Given the description of an element on the screen output the (x, y) to click on. 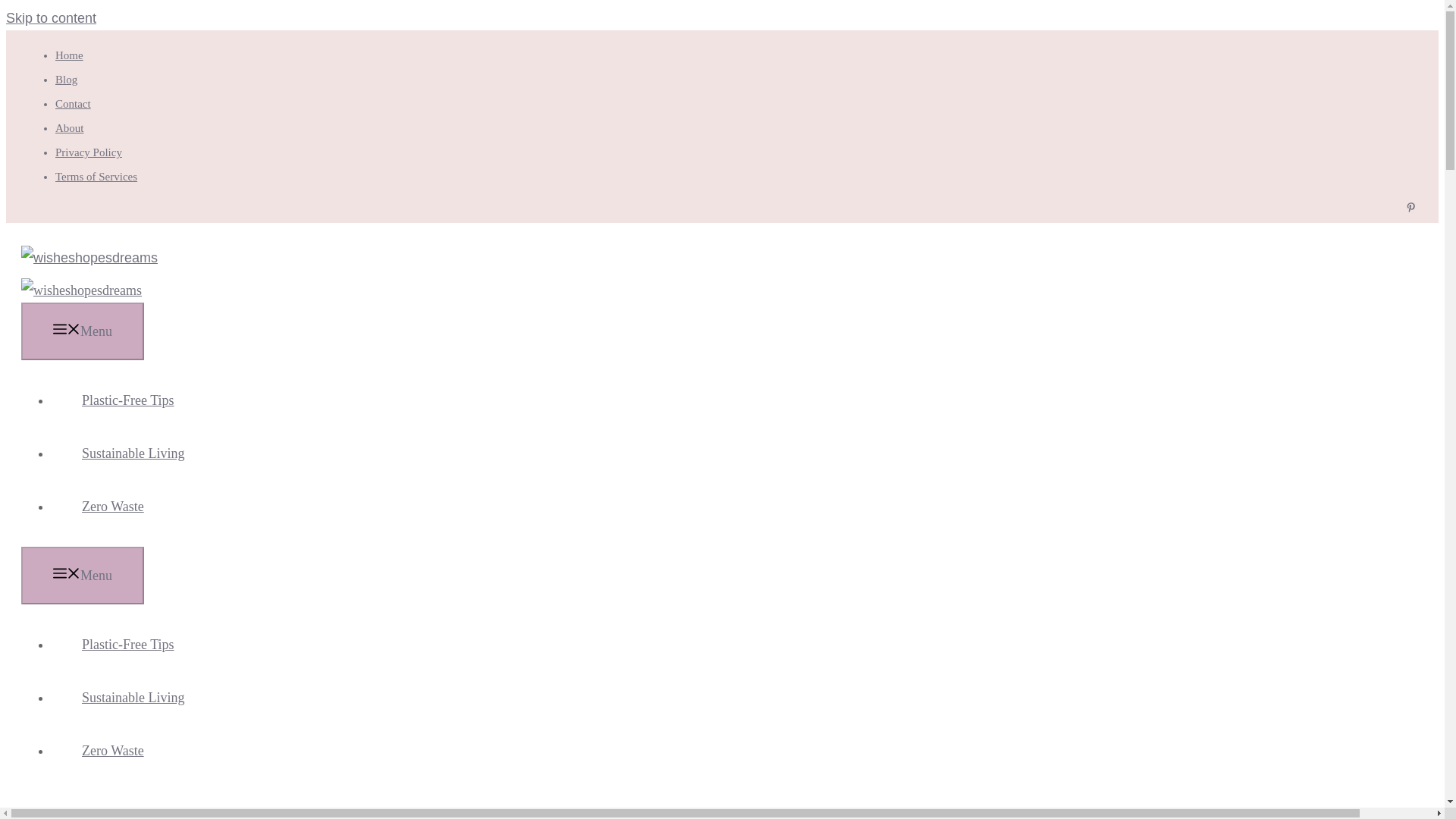
Terms of Services (95, 176)
Zero Waste (112, 750)
Plastic-Free Tips (127, 400)
Privacy Policy (88, 152)
Sustainable Living (132, 697)
Sustainable Living (132, 453)
Plastic-Free Tips (127, 644)
Skip to content (50, 17)
Blog (66, 79)
Zero Waste (112, 506)
Contact (72, 103)
wisheshopesdreams (81, 290)
Skip to content (50, 17)
Menu (82, 575)
Menu (82, 331)
